Given the description of an element on the screen output the (x, y) to click on. 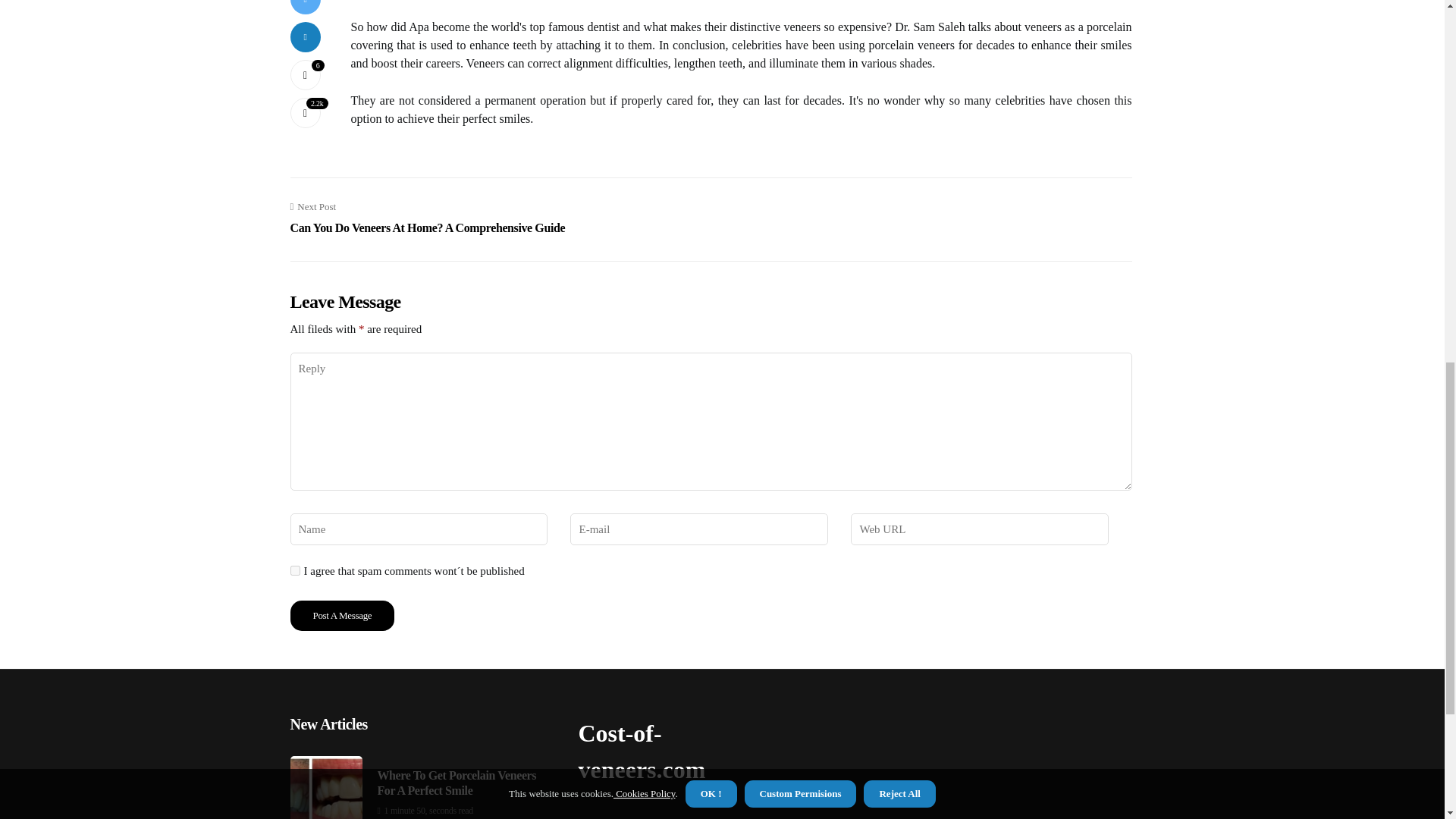
Post a Message (341, 615)
Post a Message (426, 217)
yes (341, 615)
